Given the description of an element on the screen output the (x, y) to click on. 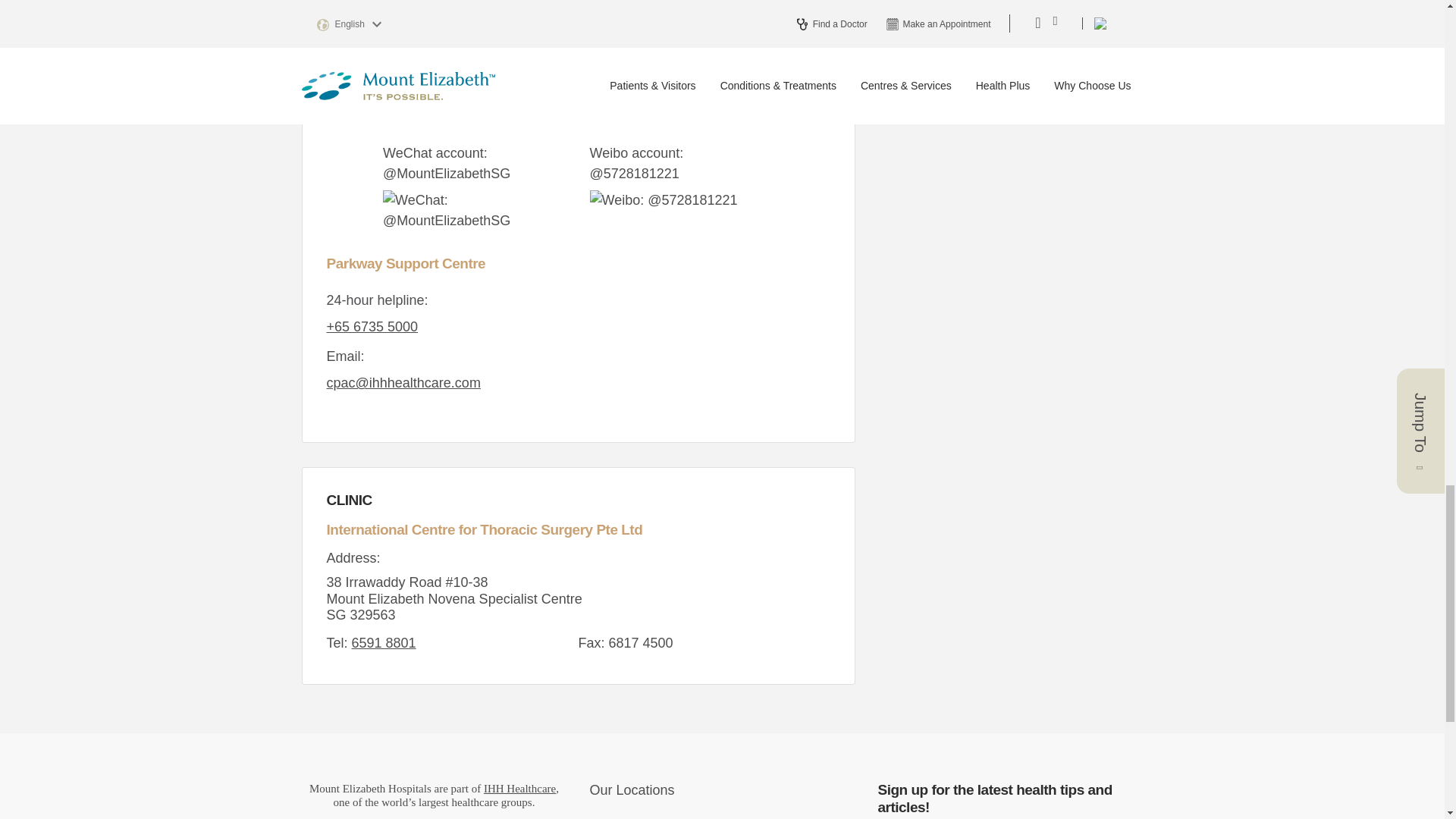
24-hour helpline: (371, 326)
Email: (403, 382)
Clinic Telephone Number (384, 642)
